Given the description of an element on the screen output the (x, y) to click on. 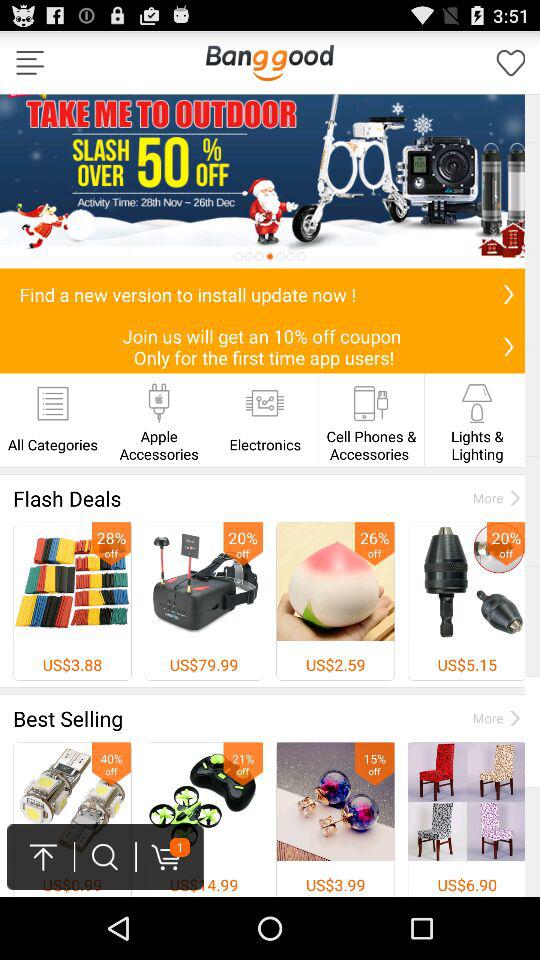
save to favorites (511, 62)
